Given the description of an element on the screen output the (x, y) to click on. 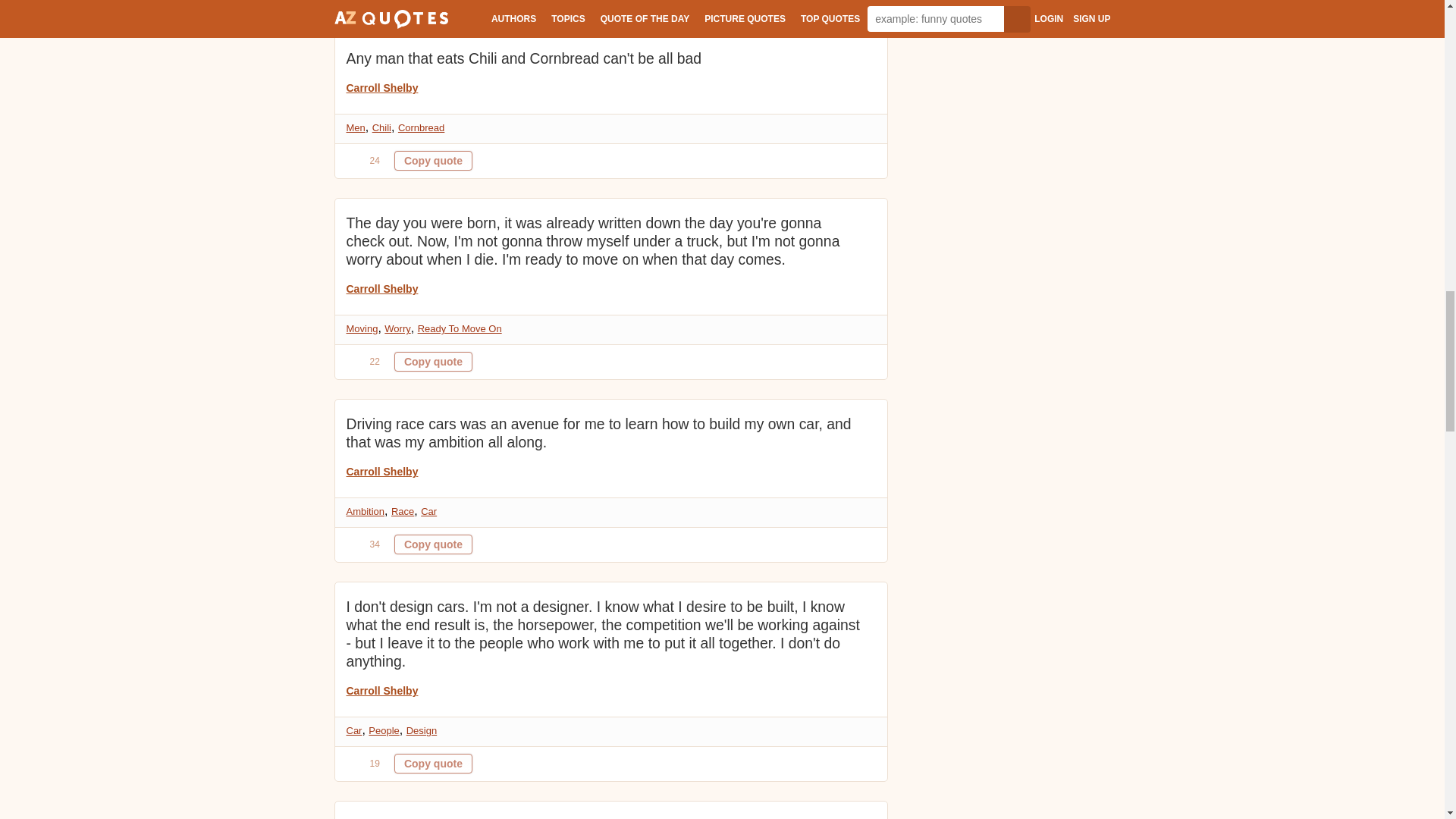
Quote is copied (432, 2)
Quote is copied (432, 160)
Quote is copied (432, 763)
Quote is copied (432, 544)
Quote is copied (432, 361)
